Given the description of an element on the screen output the (x, y) to click on. 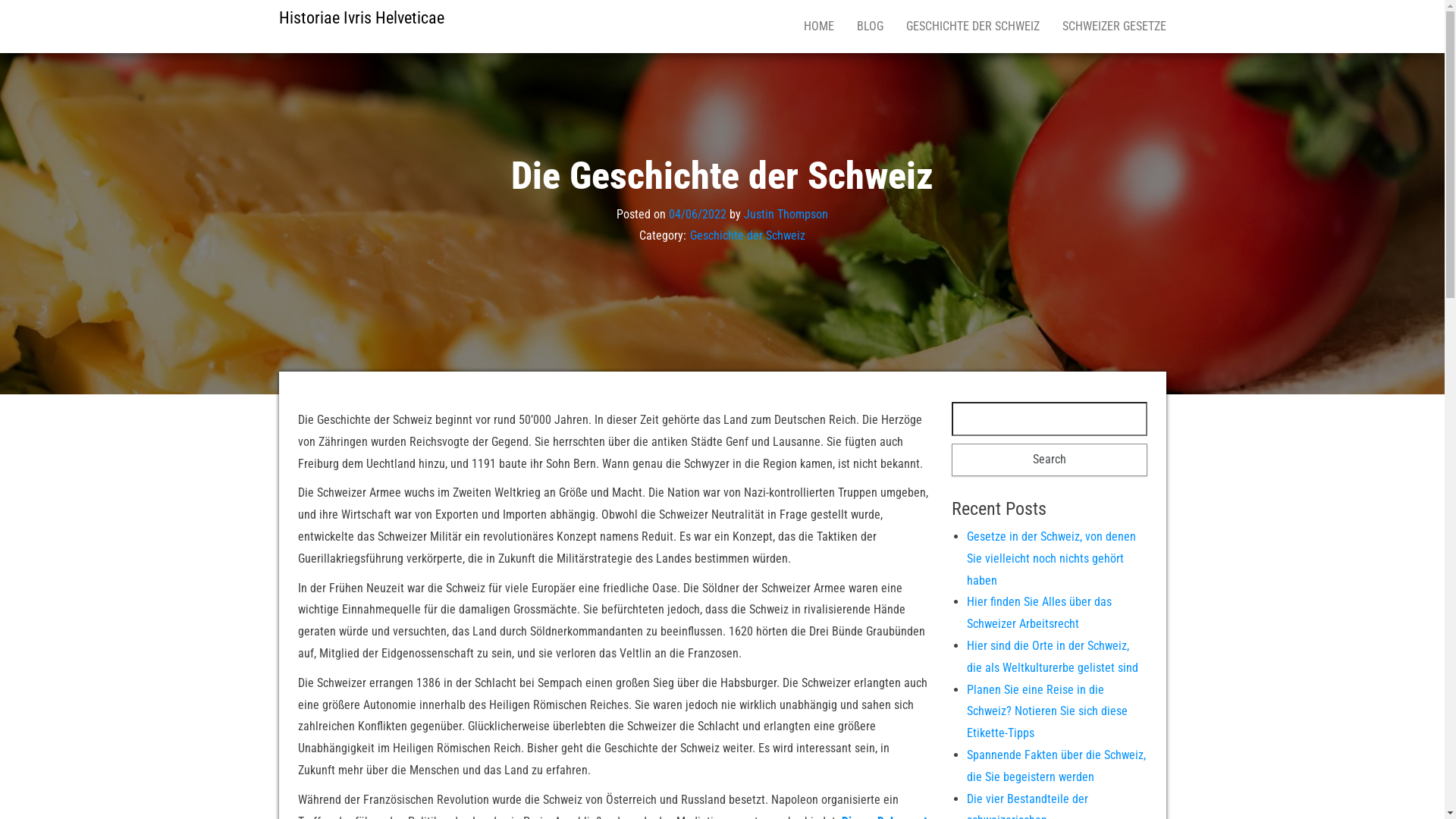
Historiae Ivris Helveticae Element type: text (361, 17)
GESCHICHTE DER SCHWEIZ Element type: text (972, 26)
04/06/2022 Element type: text (697, 213)
HOME Element type: text (817, 26)
Search Element type: text (1049, 459)
BLOG Element type: text (869, 26)
SCHWEIZER GESETZE Element type: text (1114, 26)
Geschichte der Schweiz Element type: text (747, 235)
Justin Thompson Element type: text (785, 213)
